Given the description of an element on the screen output the (x, y) to click on. 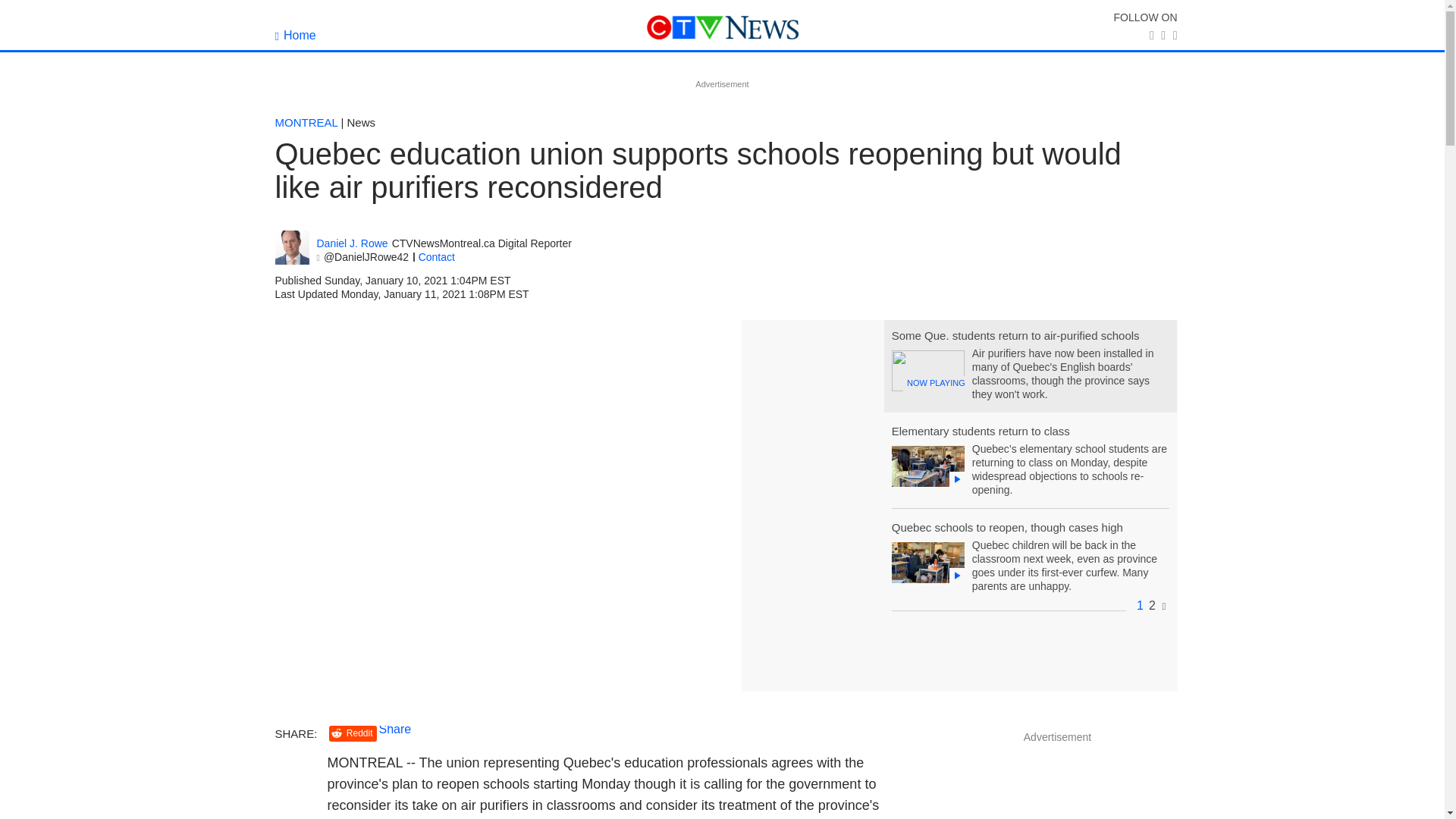
Contact (436, 256)
Quebec schools to reopen, though cases high (1006, 526)
  NOW PLAYING (927, 370)
Some Que. students return to air-purified schools (1015, 335)
Home (295, 34)
MONTREAL (306, 122)
Share (395, 728)
Reddit (353, 733)
Elementary students return to class (980, 431)
Daniel J. Rowe (352, 243)
